Given the description of an element on the screen output the (x, y) to click on. 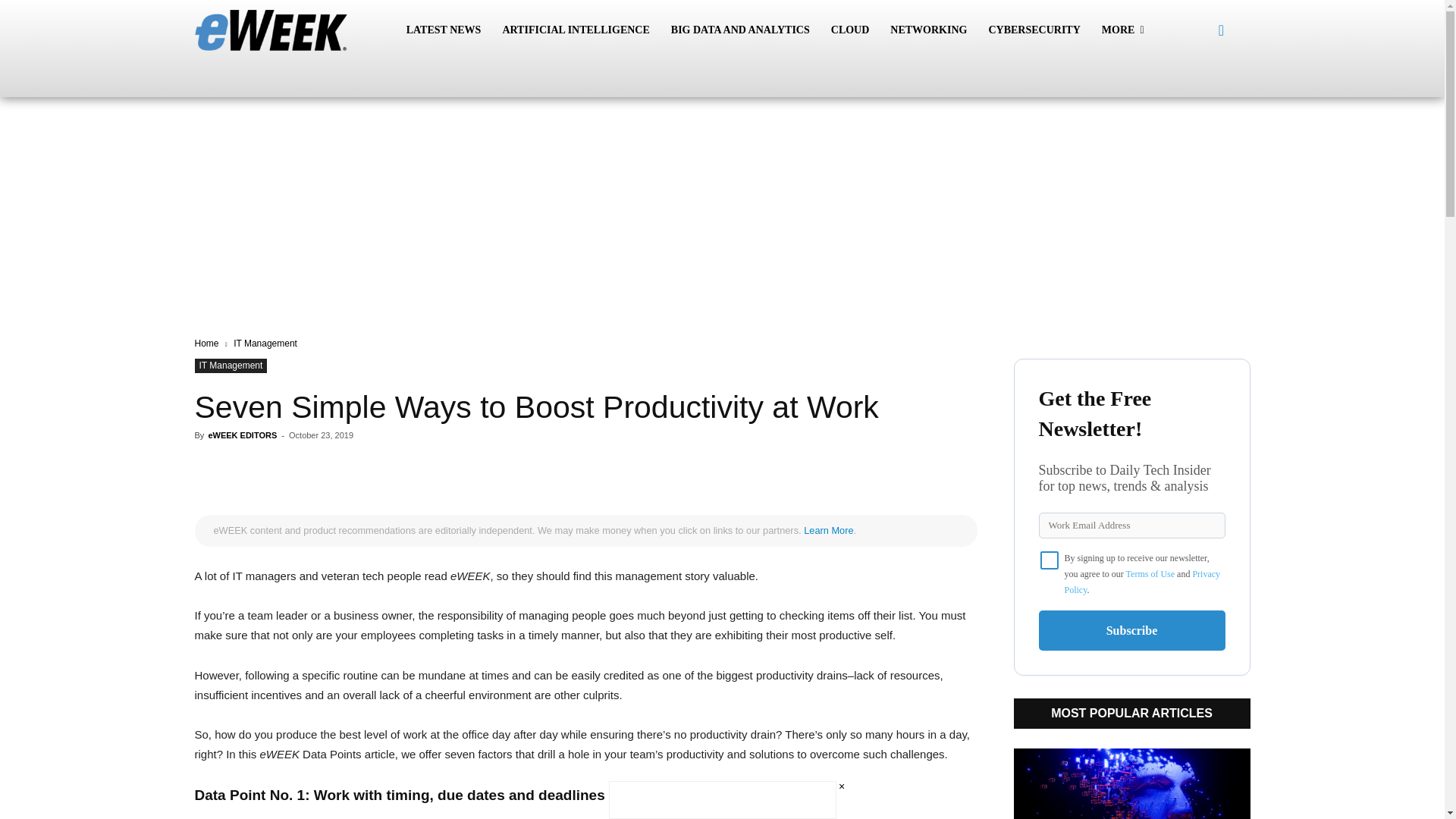
CYBERSECURITY (1033, 30)
BIG DATA AND ANALYTICS (741, 30)
ARTIFICIAL INTELLIGENCE (575, 30)
on (1049, 560)
CLOUD (850, 30)
NETWORKING (927, 30)
LATEST NEWS (444, 30)
